Given the description of an element on the screen output the (x, y) to click on. 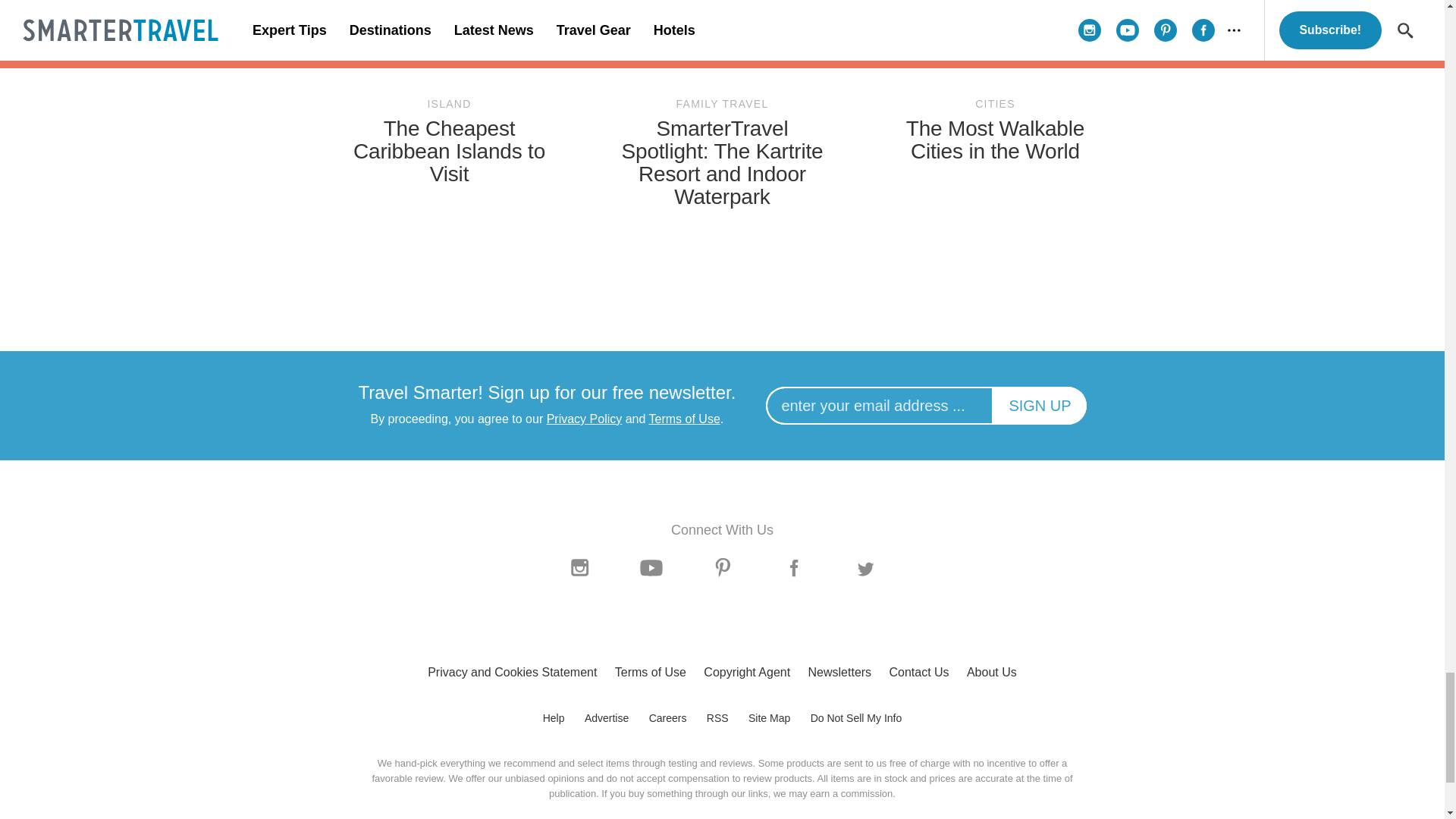
View all posts in Island (448, 103)
View all posts in Family Travel (722, 103)
View all posts in Cities (995, 103)
